Given the description of an element on the screen output the (x, y) to click on. 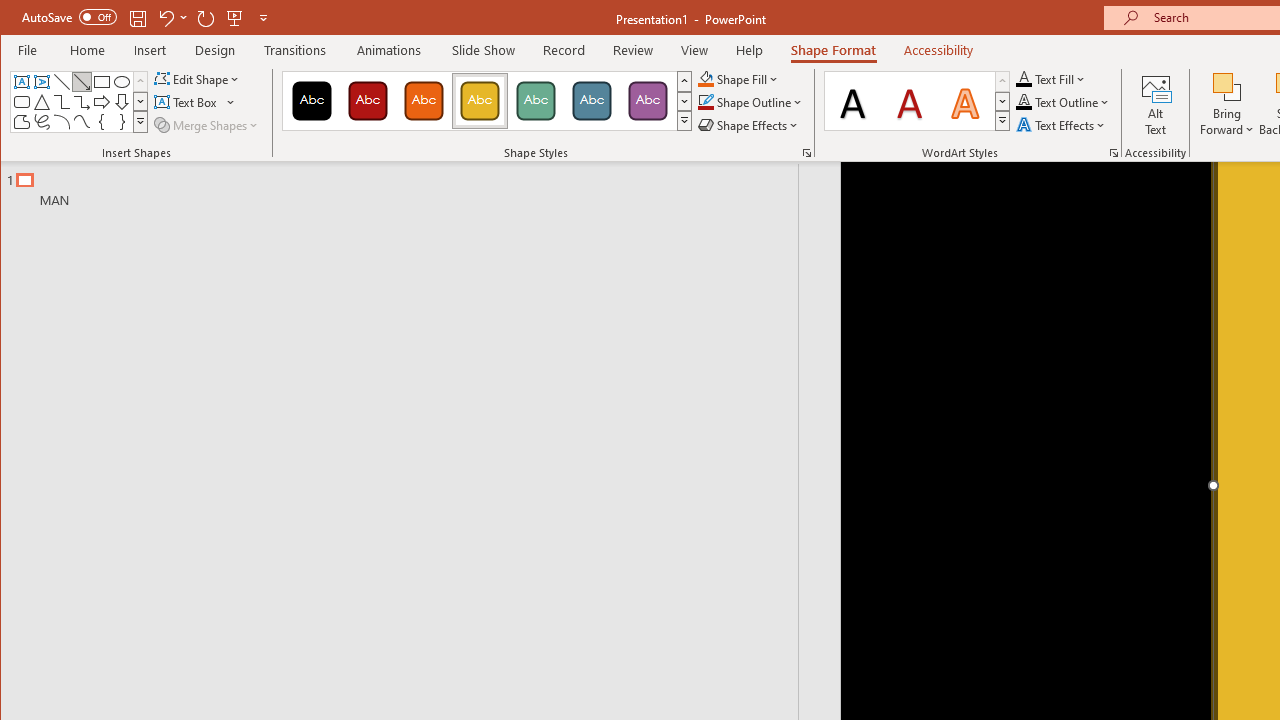
AutomationID: ShapeStylesGallery (488, 101)
